Given the description of an element on the screen output the (x, y) to click on. 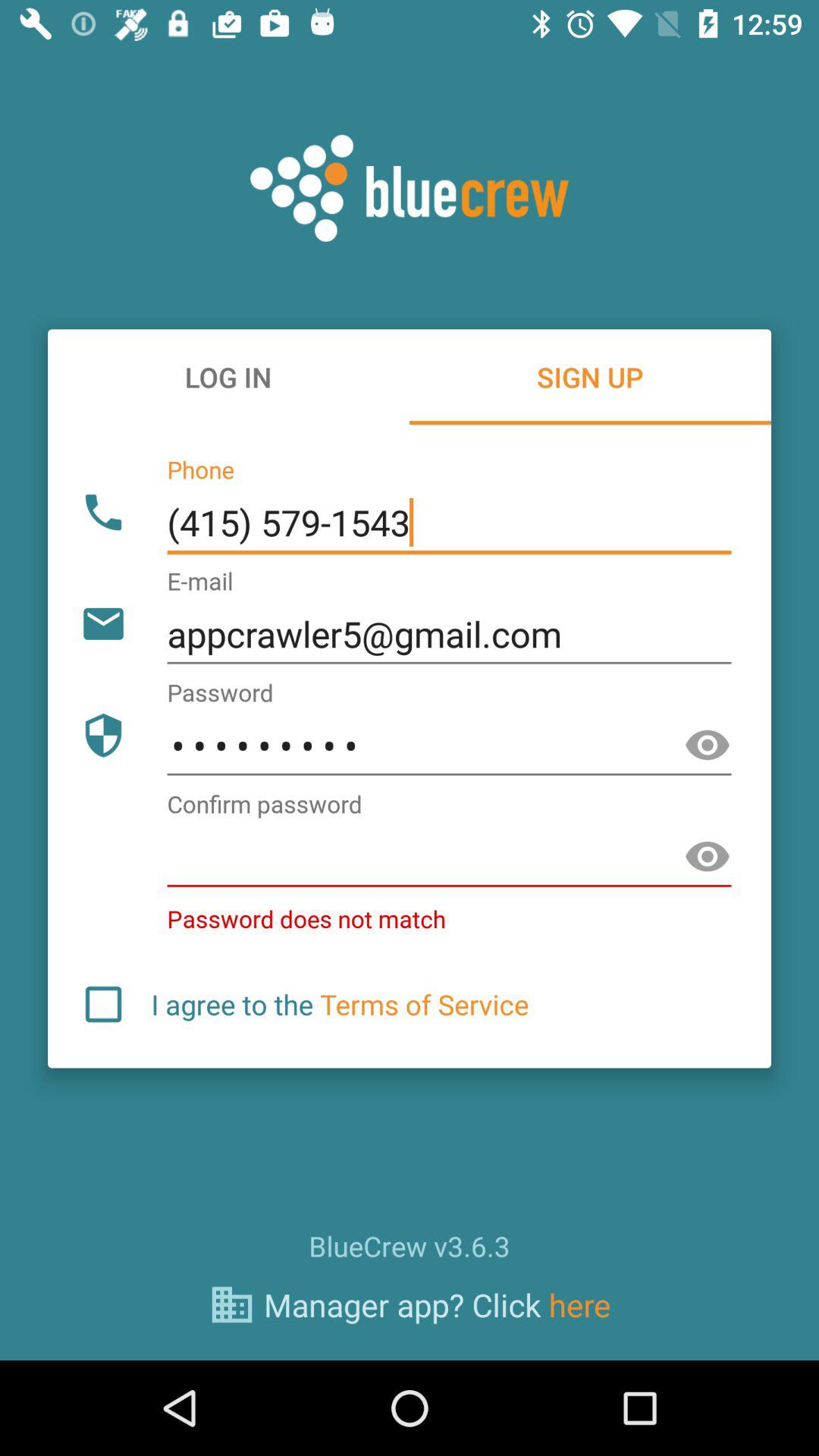
password (449, 857)
